Given the description of an element on the screen output the (x, y) to click on. 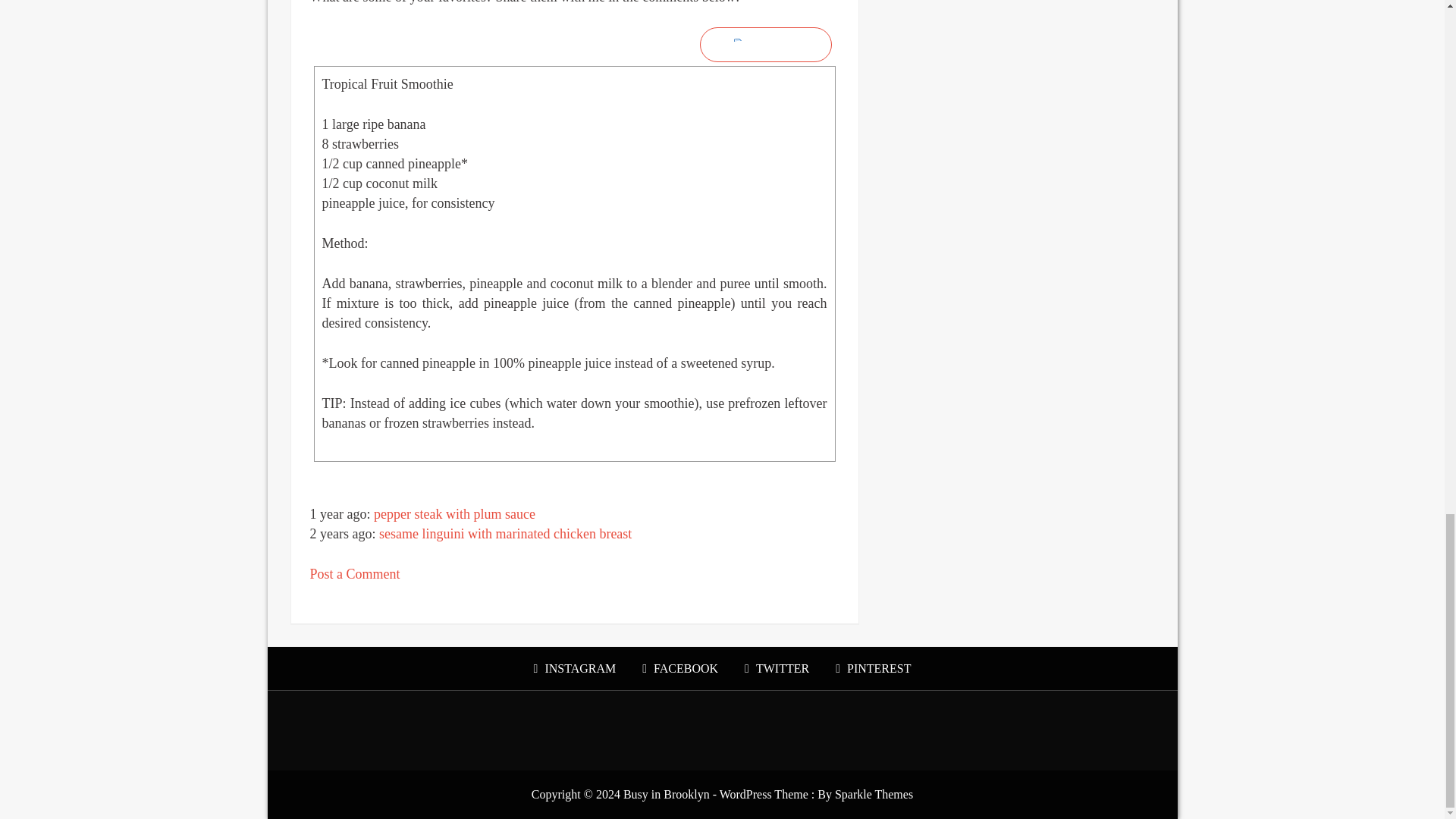
pepper steak with plum sauce (454, 513)
       Print This!     (765, 44)
